Given the description of an element on the screen output the (x, y) to click on. 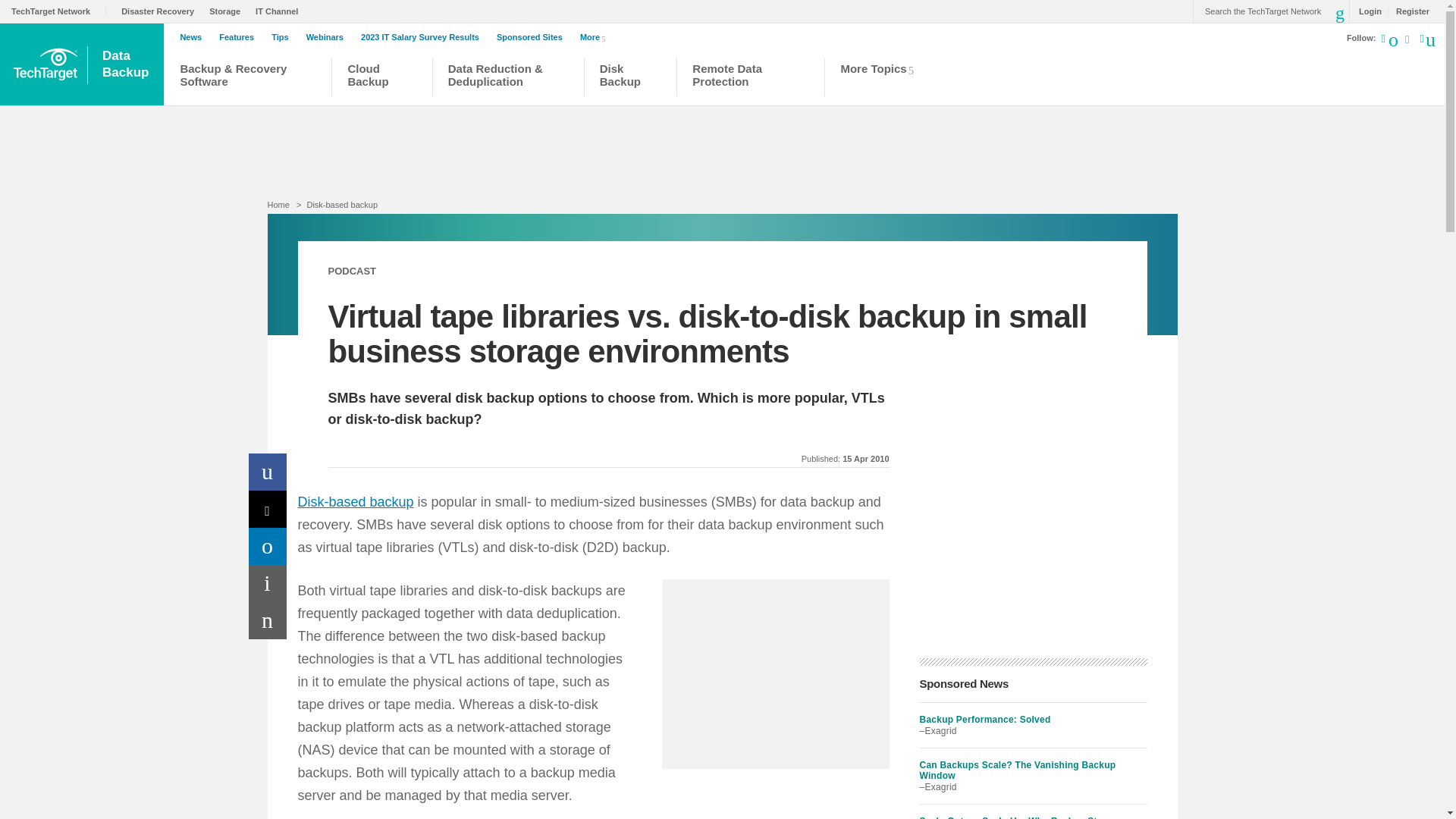
News (194, 36)
More Topics (881, 79)
Features (240, 36)
Remote Data Protection (751, 79)
2023 IT Salary Survey Results (126, 64)
More (423, 36)
Sponsored Sites (595, 36)
Tips (533, 36)
Share on X (282, 36)
